Given the description of an element on the screen output the (x, y) to click on. 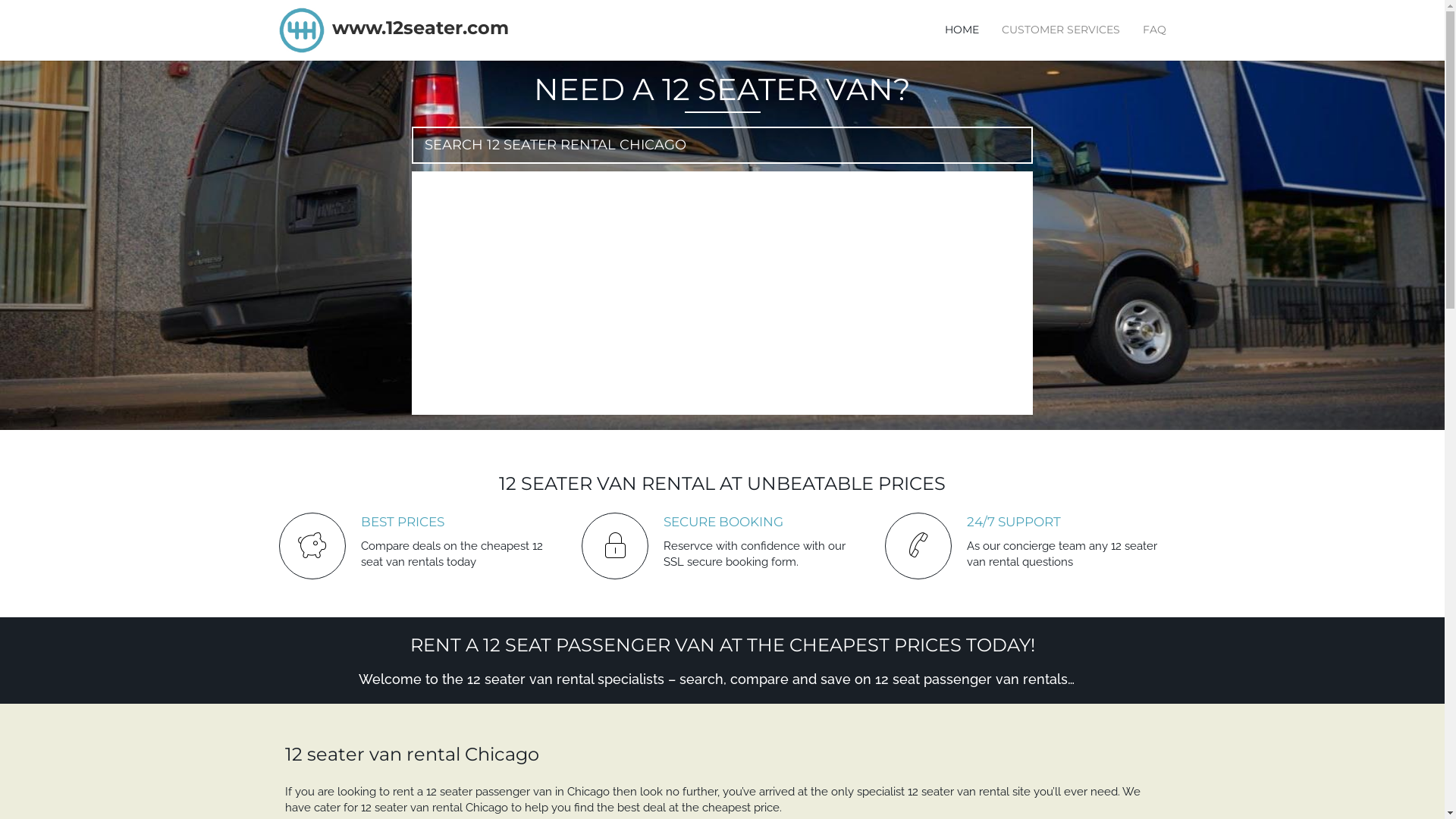
www.12seater.com Element type: text (420, 27)
CUSTOMER SERVICES Element type: text (1060, 29)
FAQ Element type: text (1153, 29)
HOME Element type: text (961, 29)
